Given the description of an element on the screen output the (x, y) to click on. 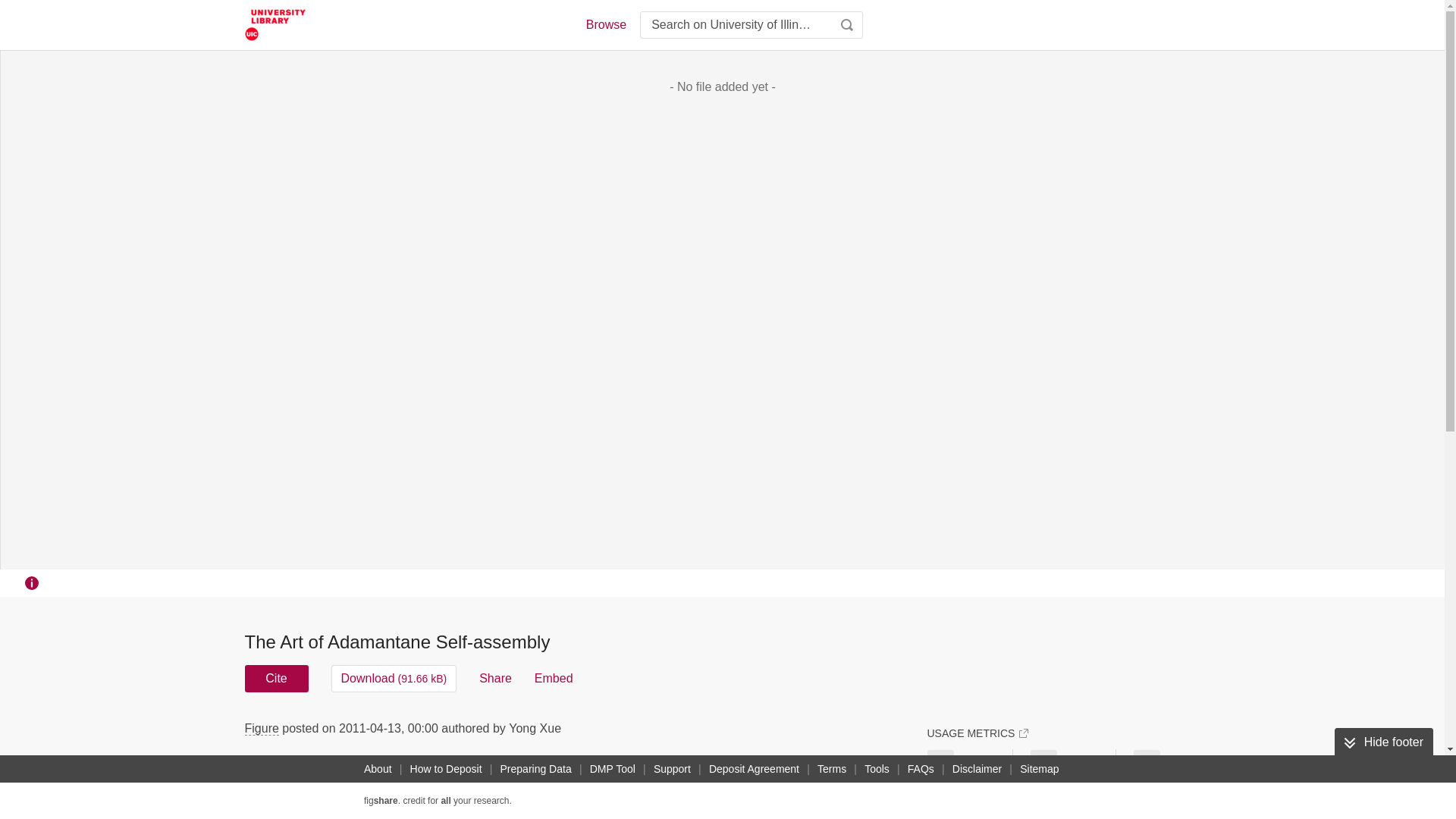
Deposit Agreement (753, 769)
Tools (876, 769)
How to Deposit (446, 769)
Preparing Data (536, 769)
Share (495, 678)
Terms (831, 769)
Sitemap (1038, 769)
Hide footer (1383, 742)
Disclaimer (976, 769)
Support (672, 769)
